Given the description of an element on the screen output the (x, y) to click on. 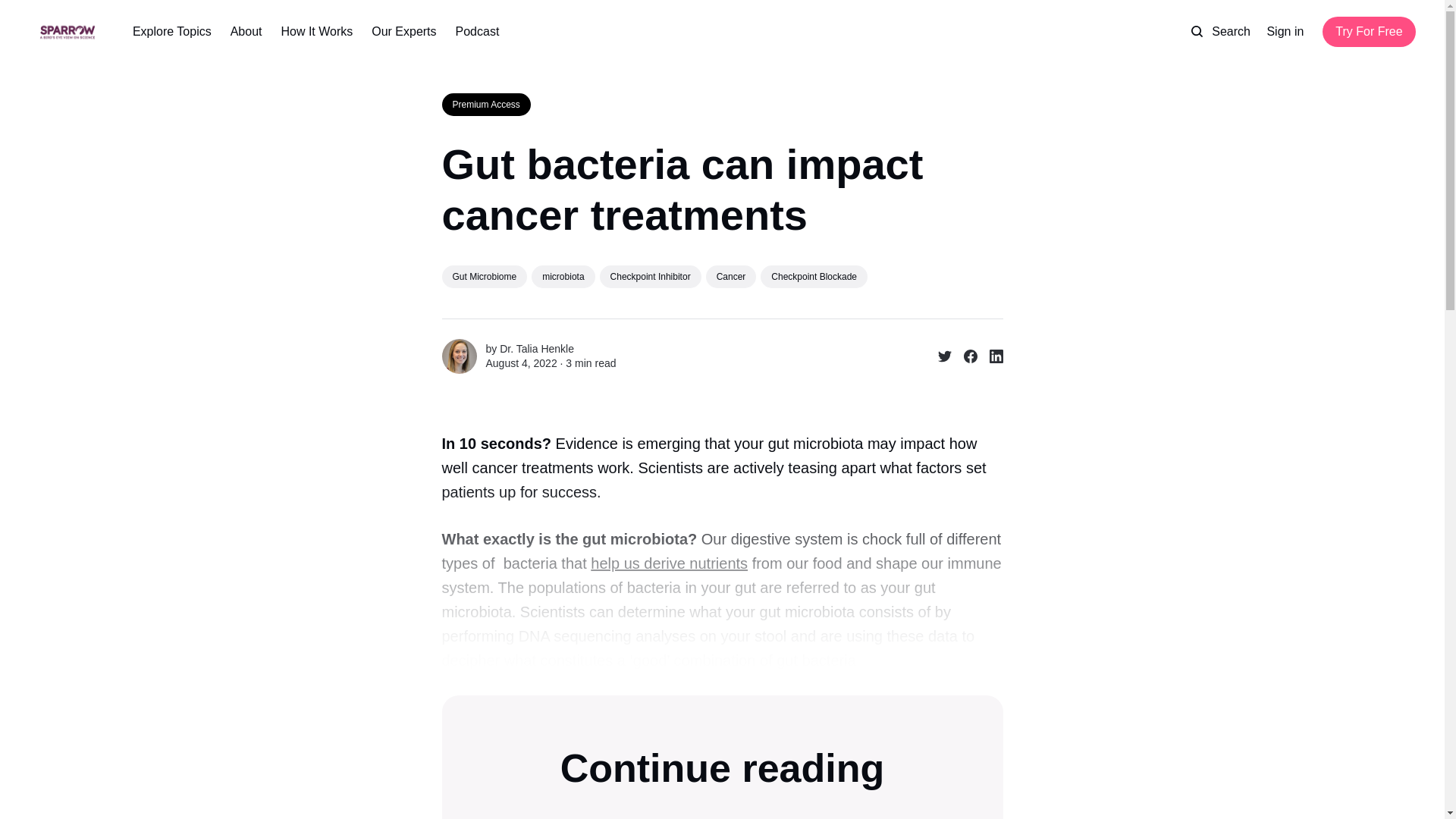
Checkpoint Inhibitor (650, 276)
help us derive nutrients (669, 563)
Dr. Talia Henkle (536, 348)
microbiota (562, 276)
Checkpoint Blockade (813, 276)
Try For Free (1368, 31)
Cancer (731, 276)
Gut Microbiome (484, 276)
How It Works (316, 31)
Podcast (477, 31)
About (246, 31)
Our Experts (403, 31)
Sign in (1284, 31)
